Given the description of an element on the screen output the (x, y) to click on. 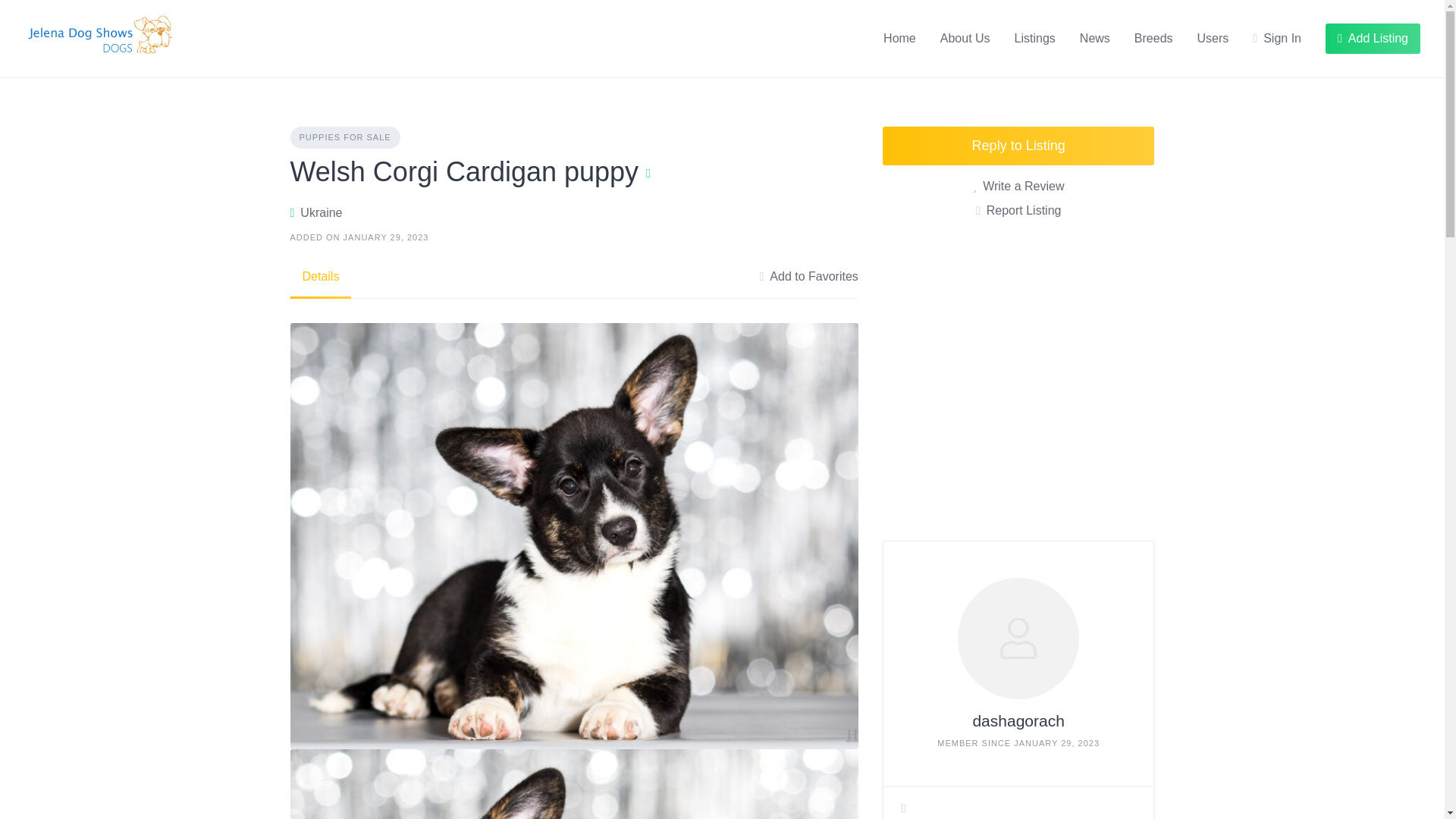
Breeds (1153, 38)
About Us (965, 38)
Ukraine (320, 212)
Sign In (1276, 38)
Add to Favorites (807, 276)
Details (320, 276)
Write a Review (1018, 186)
Reply to Listing (1018, 145)
Report Listing (1018, 210)
Users (1212, 38)
